Given the description of an element on the screen output the (x, y) to click on. 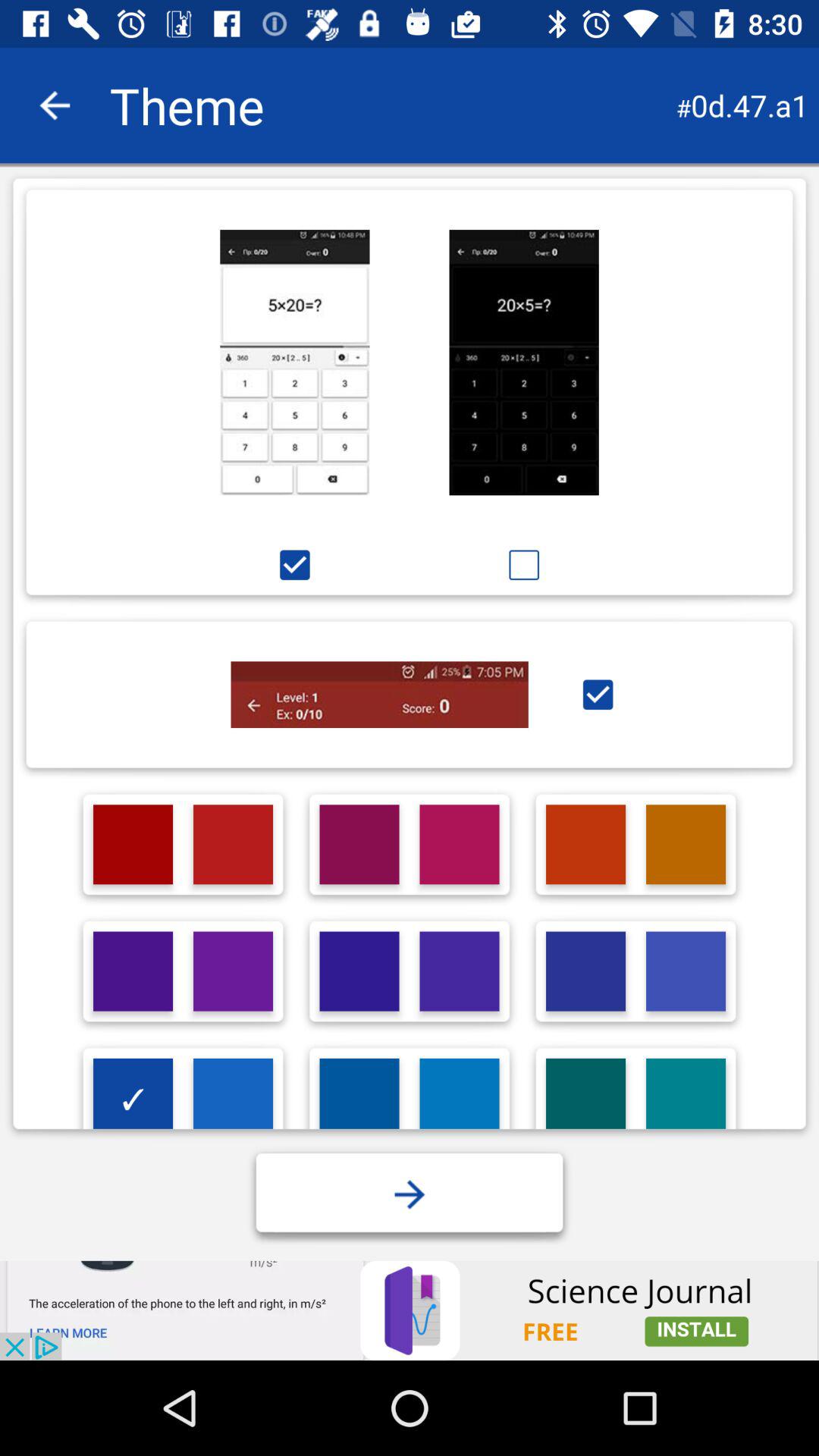
logon (459, 971)
